Given the description of an element on the screen output the (x, y) to click on. 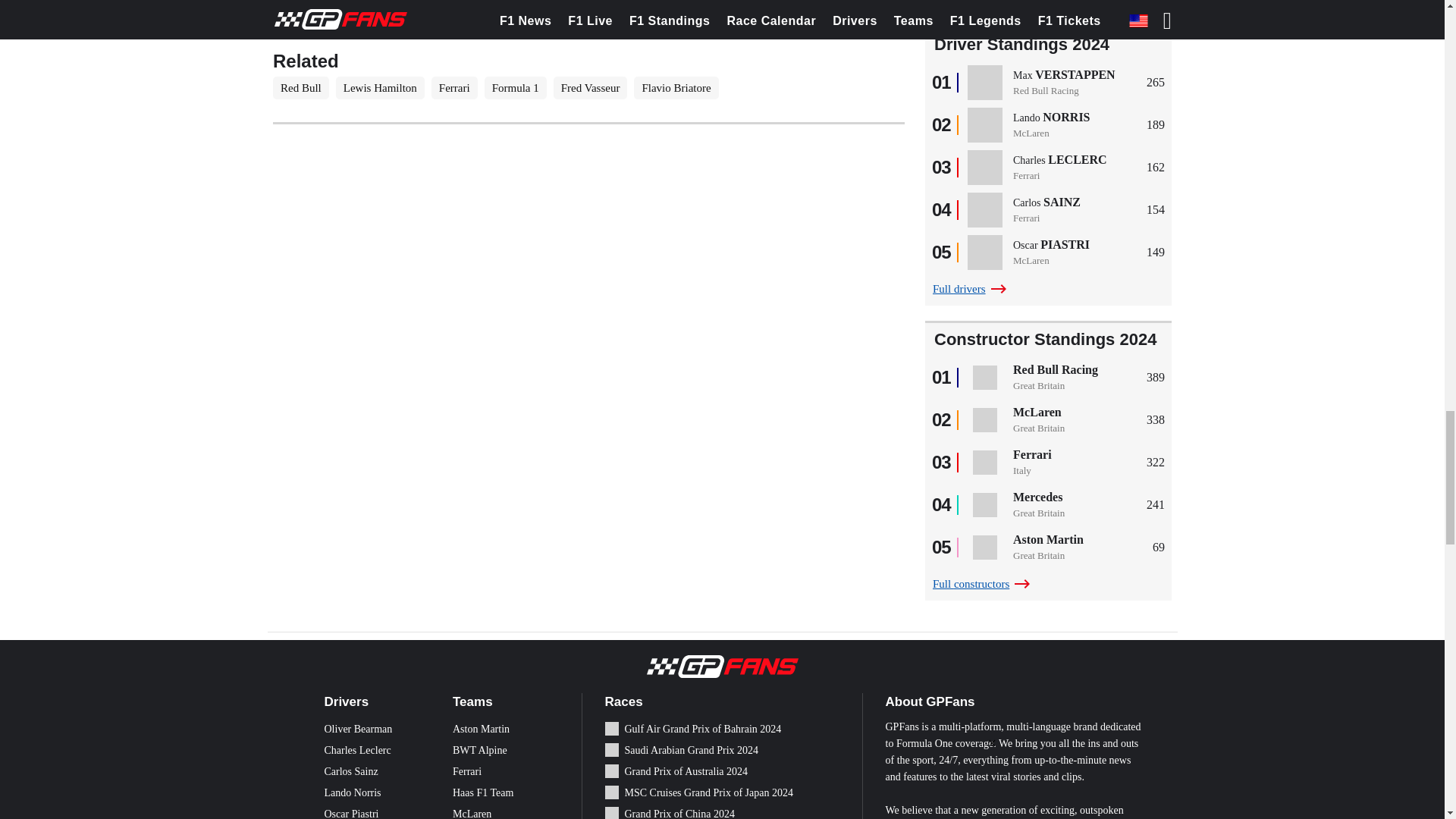
Ferrari (453, 87)
Jos Verstappen gives backing to suspended Red Bull employee (526, 32)
Jos Verstappen gives backing to suspended Red Bull employee (526, 32)
Red Bull (301, 87)
Lewis Hamilton (380, 87)
